Given the description of an element on the screen output the (x, y) to click on. 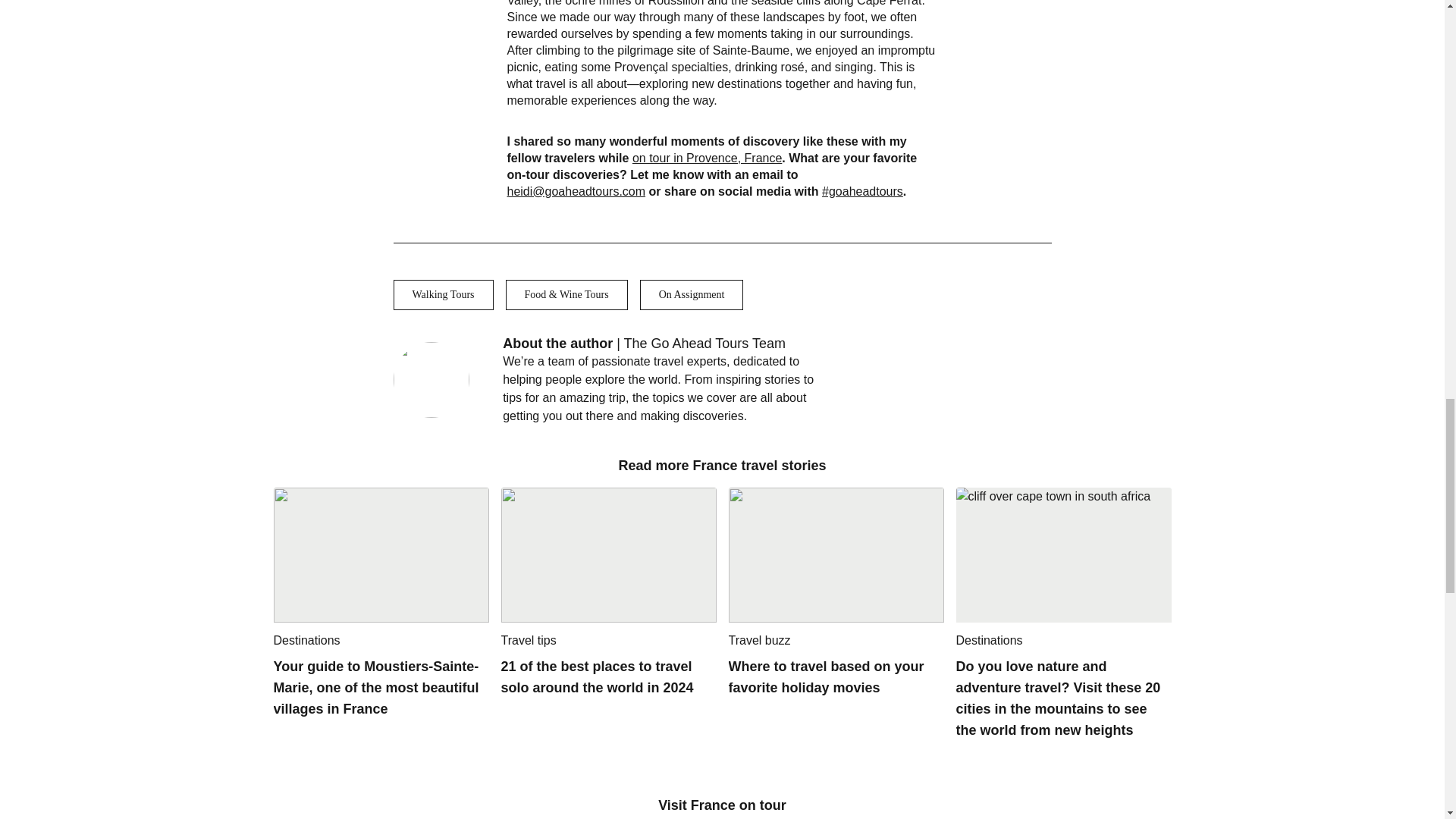
On Assignment (692, 295)
Walking Tours (443, 295)
on tour in Provence, France (706, 157)
